Given the description of an element on the screen output the (x, y) to click on. 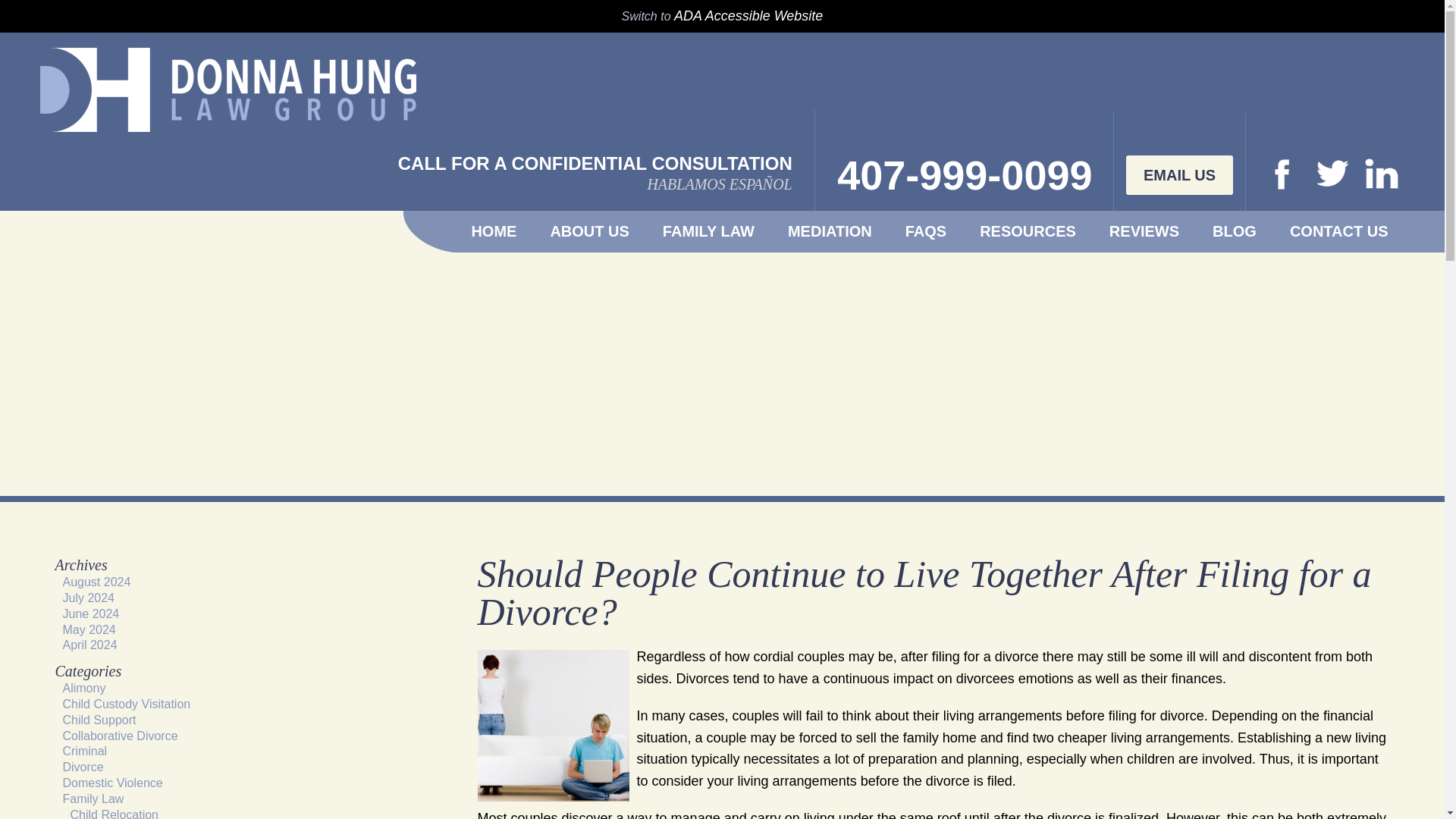
Cohabitate (552, 725)
HOME (493, 231)
407-999-0099 (964, 174)
LinkedIn (1310, 173)
ABOUT US (589, 231)
REVIEWS (1144, 231)
ADA Accessible Website (748, 15)
RESOURCES (1027, 231)
EMAIL US (1179, 174)
CONTACT US (1338, 231)
